Given the description of an element on the screen output the (x, y) to click on. 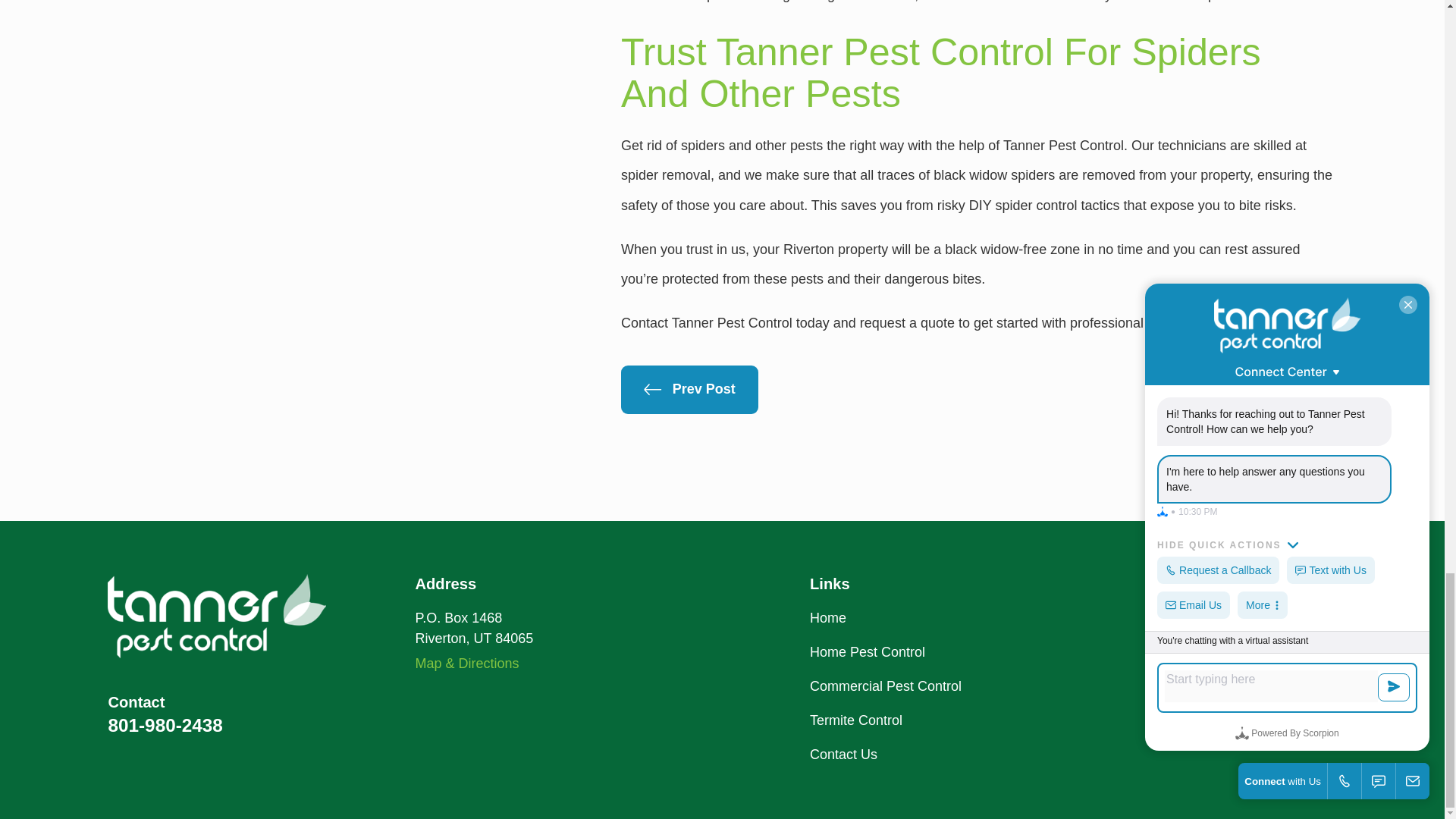
Google Business Profile (1248, 617)
Facebook (1287, 617)
Home (216, 616)
Yelp (1326, 617)
